Given the description of an element on the screen output the (x, y) to click on. 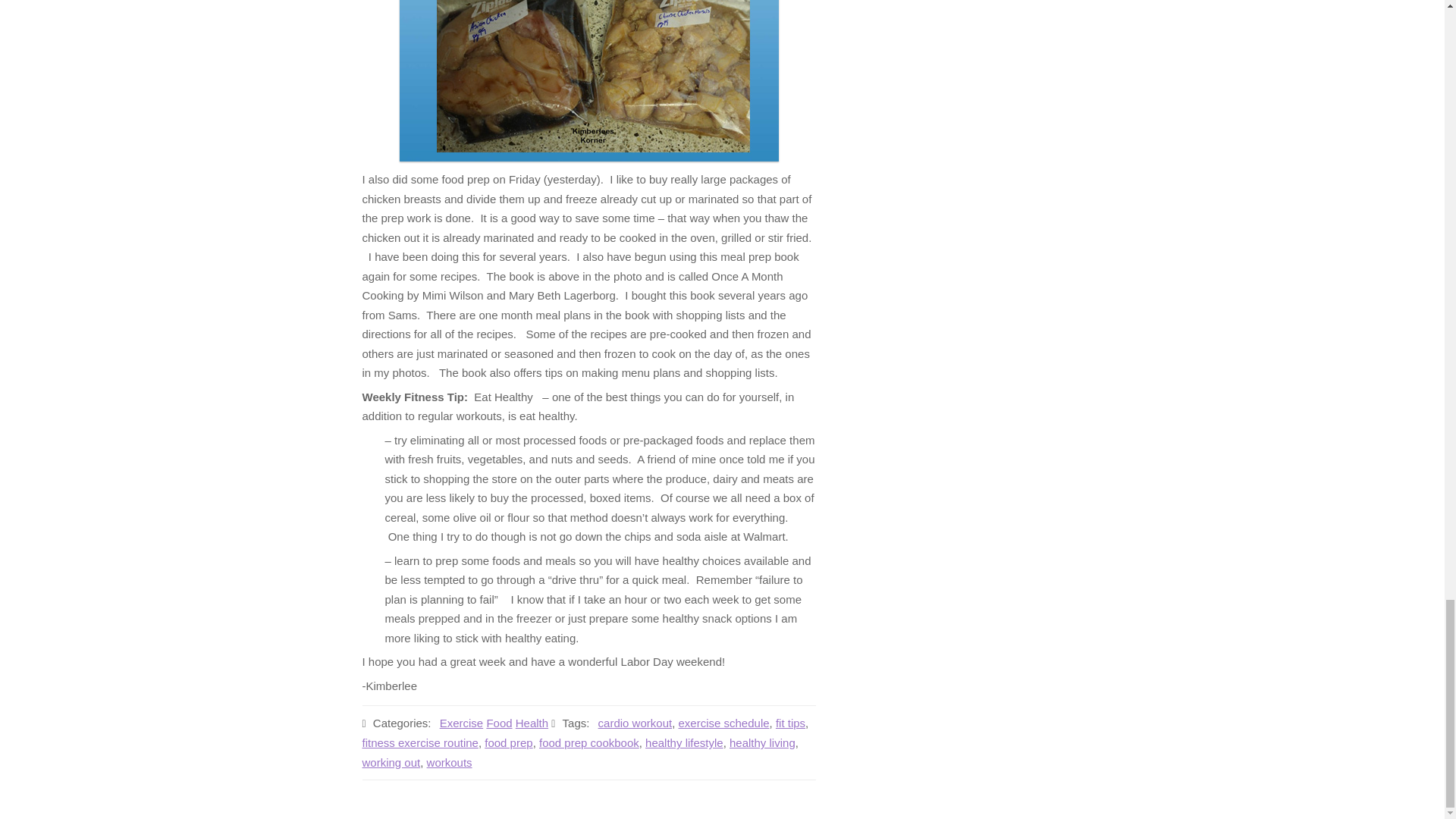
healthy living (761, 742)
food prep (508, 742)
fit tips (790, 722)
workouts (448, 762)
Exercise (461, 722)
healthy lifestyle (684, 742)
food prep cookbook (588, 742)
Food (499, 722)
cardio workout (635, 722)
fitness exercise routine (420, 742)
